Given the description of an element on the screen output the (x, y) to click on. 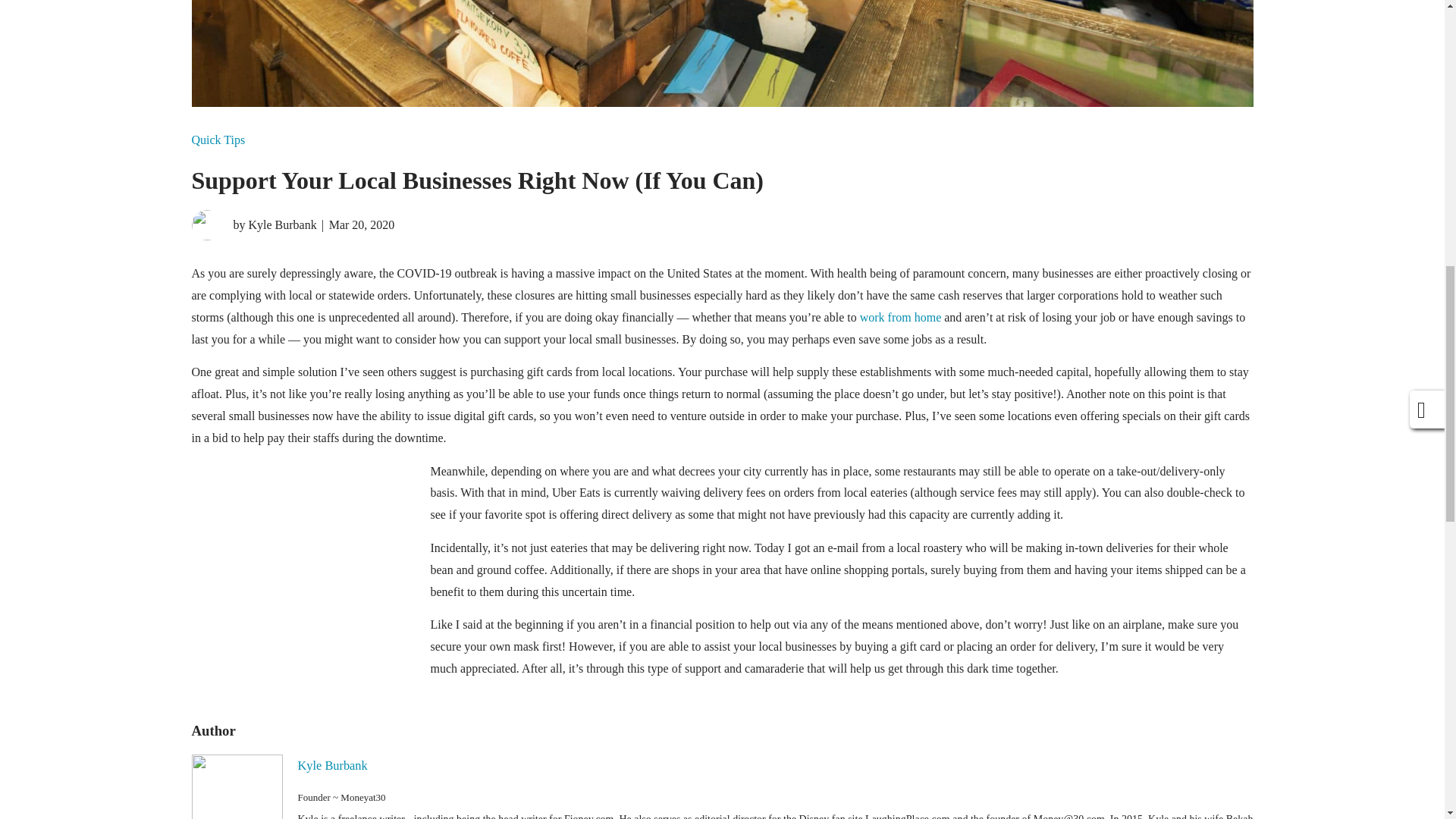
Quick Tips (217, 139)
Posts by Kyle Burbank (252, 224)
Kyle Burbank (331, 765)
work from home (901, 317)
